Given the description of an element on the screen output the (x, y) to click on. 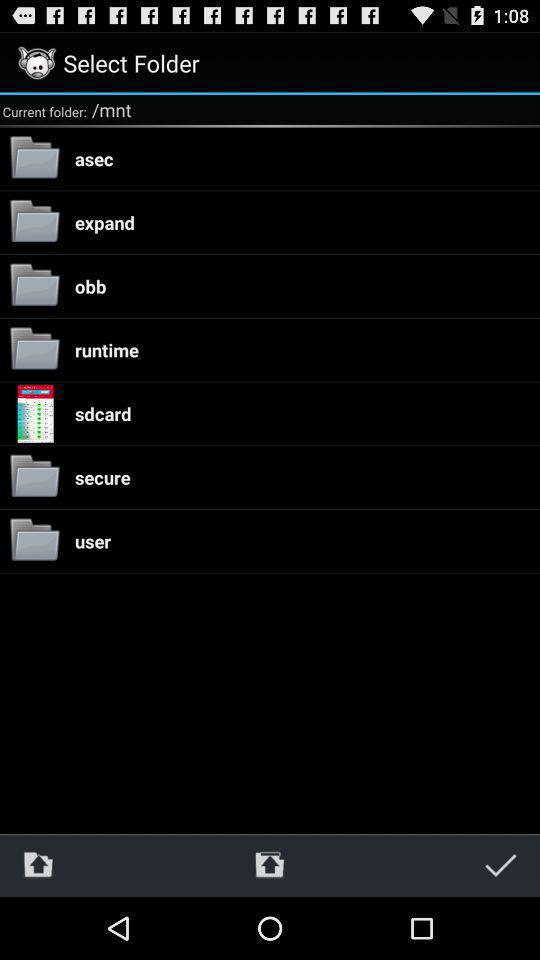
select the tick mark icon at bottom right corner (501, 865)
select the first folder (34, 158)
the folder icon left to obb (34, 286)
click on second button at bottom of page (269, 865)
